Given the description of an element on the screen output the (x, y) to click on. 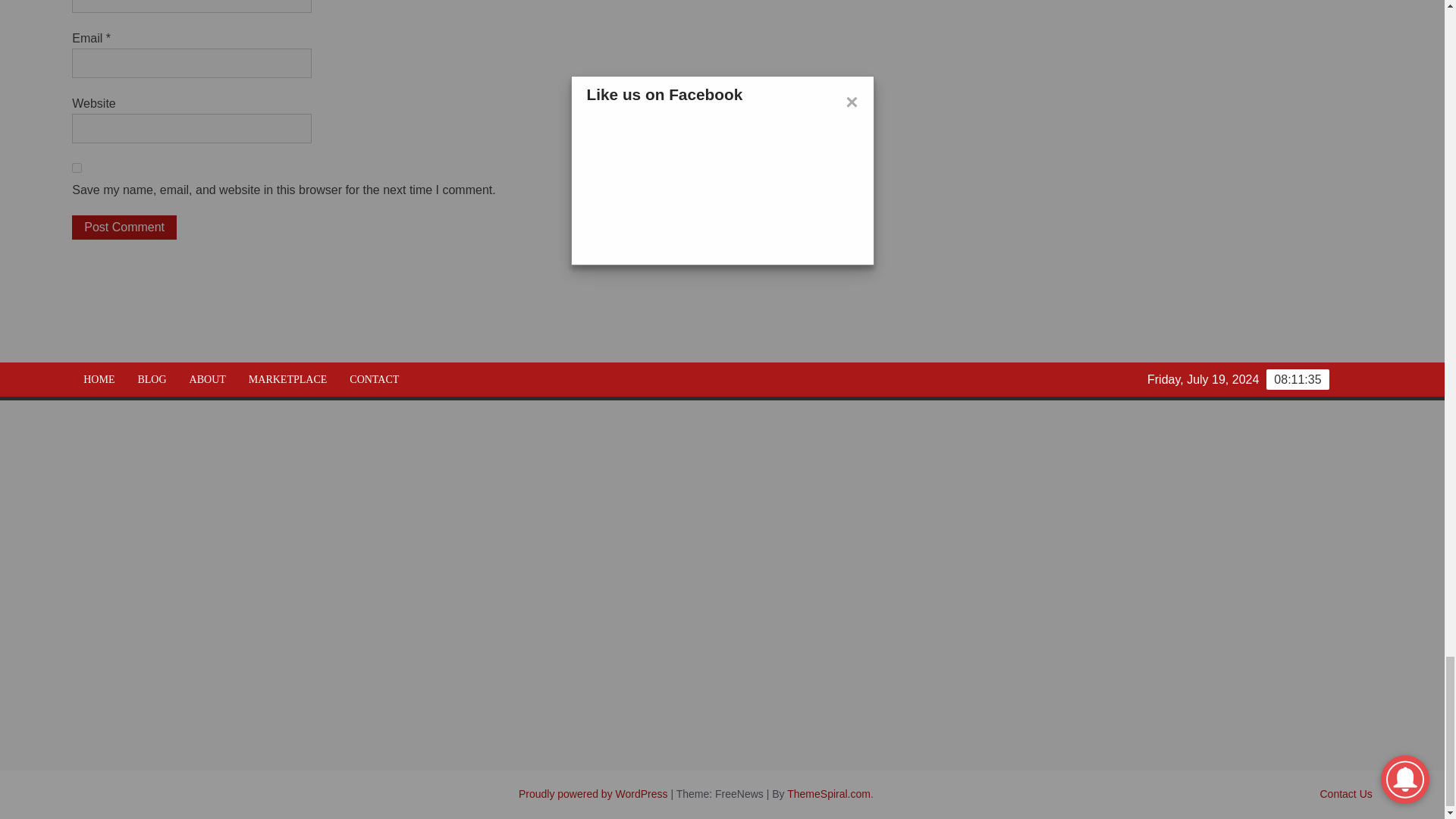
yes (76, 167)
Post Comment (123, 227)
